Given the description of an element on the screen output the (x, y) to click on. 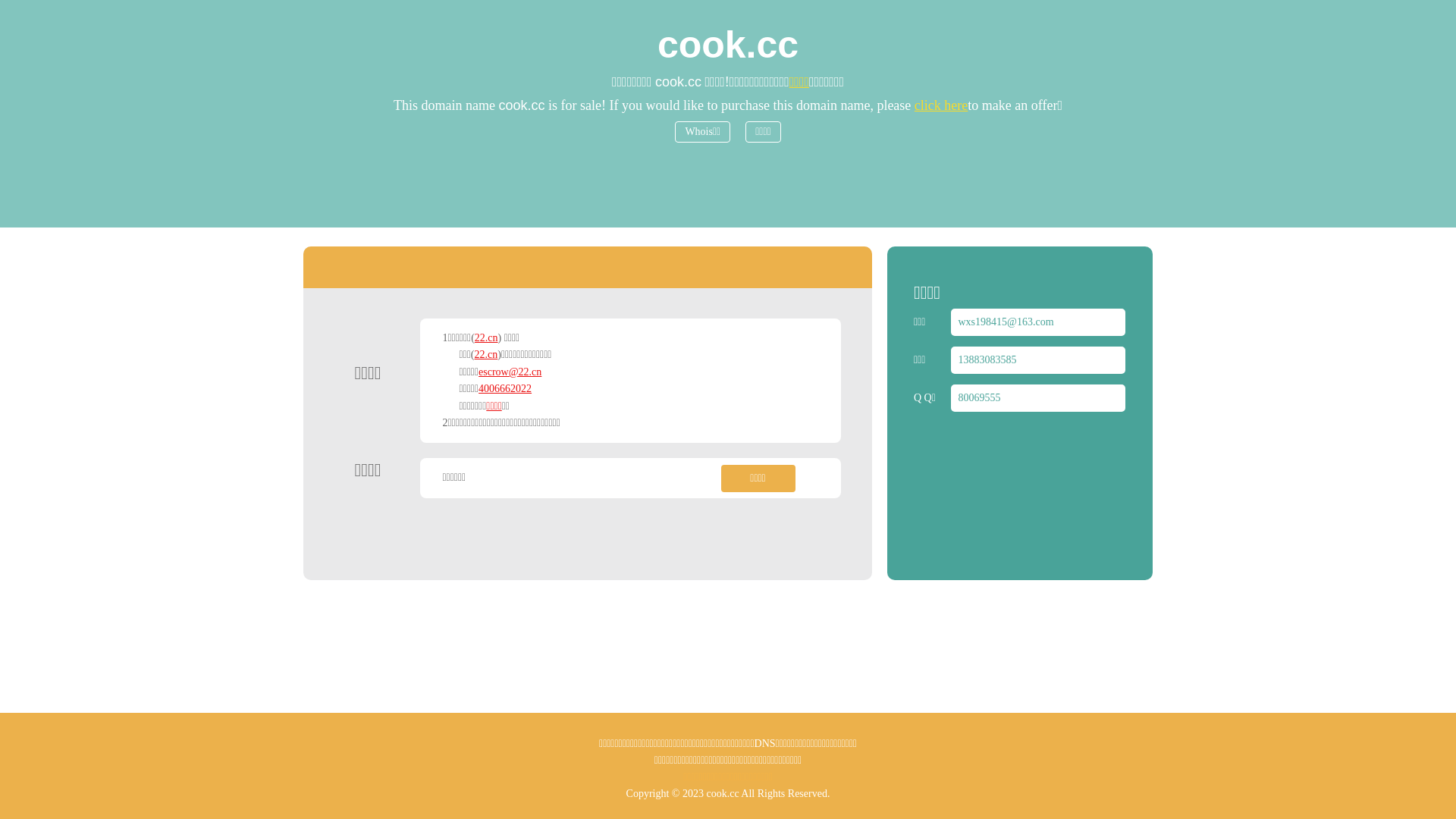
22.cn Element type: text (486, 337)
escrow@22.cn Element type: text (509, 371)
4006662022 Element type: text (504, 388)
22.cn Element type: text (486, 354)
click here Element type: text (940, 104)
